Given the description of an element on the screen output the (x, y) to click on. 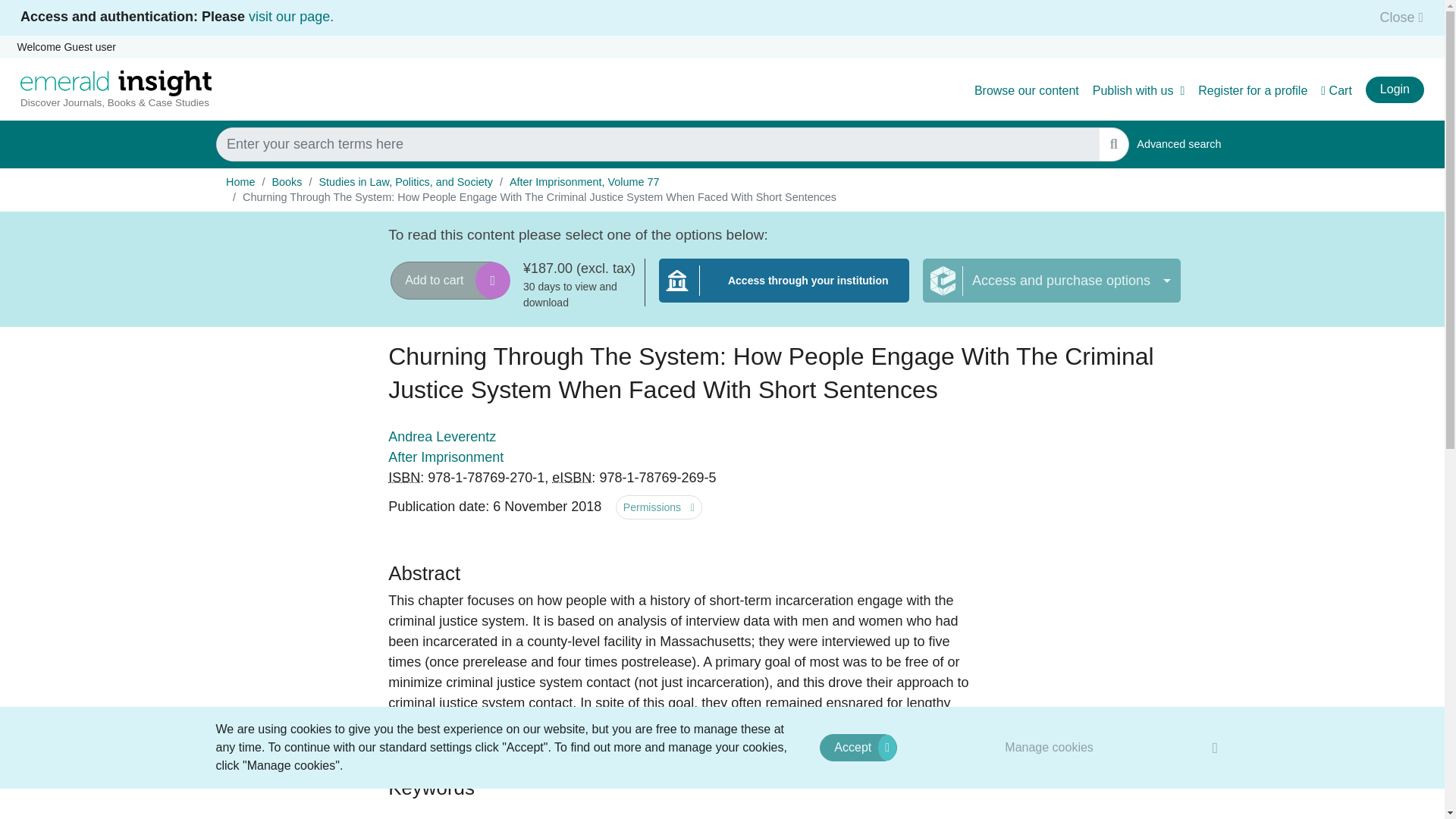
Access through your institution (783, 289)
Register for a profile (1178, 144)
Cart (1252, 90)
Manage cookies (1336, 90)
International Standard Book Number. (1049, 747)
Publish with us (404, 477)
